Given the description of an element on the screen output the (x, y) to click on. 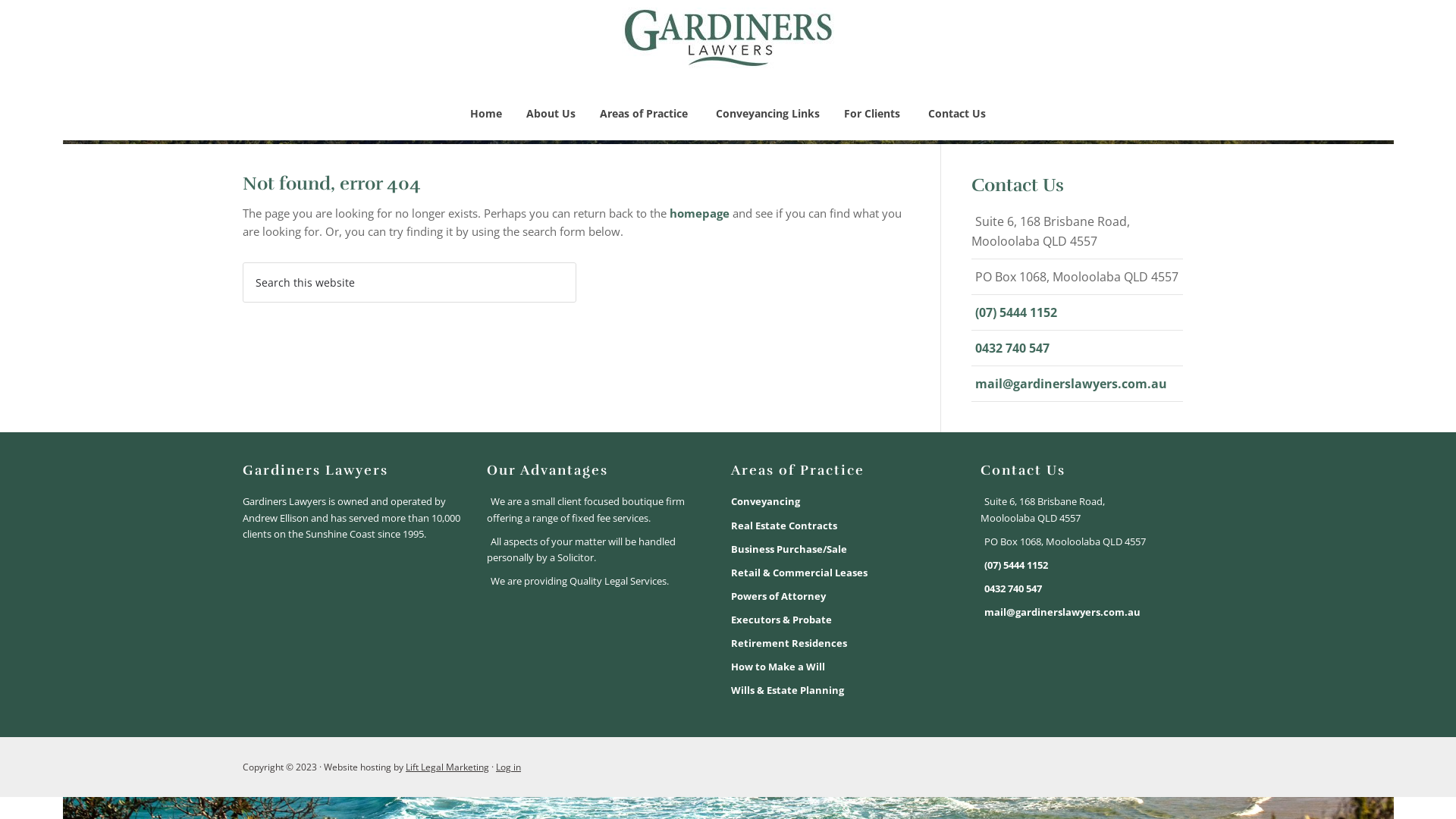
Lift Legal Marketing Element type: text (447, 766)
How to Make a Will Element type: text (778, 666)
Powers of Attorney Element type: text (778, 595)
Gardiners Lawyers Element type: hover (727, 58)
About Us Element type: text (550, 113)
Contact Us Element type: text (956, 113)
For Clients Element type: text (873, 113)
Wills & Estate Planning Element type: text (787, 689)
mail@gardinerslawyers.com.au Element type: text (1062, 611)
0432 740 547 Element type: text (1012, 588)
Search Element type: text (575, 261)
homepage Element type: text (699, 212)
(07) 5444 1152 Element type: text (1016, 312)
Conveyancing Element type: text (765, 501)
Home Element type: text (485, 113)
Real Estate Contracts Element type: text (784, 525)
Areas of Practice Element type: text (645, 113)
(07) 5444 1152 Element type: text (1016, 564)
Business Purchase/Sale Element type: text (789, 548)
0432 740 547 Element type: text (1012, 347)
Retirement Residences Element type: text (789, 642)
mail@gardinerslawyers.com.au Element type: text (1071, 383)
Conveyancing Links Element type: text (767, 113)
Executors & Probate Element type: text (781, 619)
Log in Element type: text (507, 766)
Retail & Commercial Leases Element type: text (799, 572)
